Given the description of an element on the screen output the (x, y) to click on. 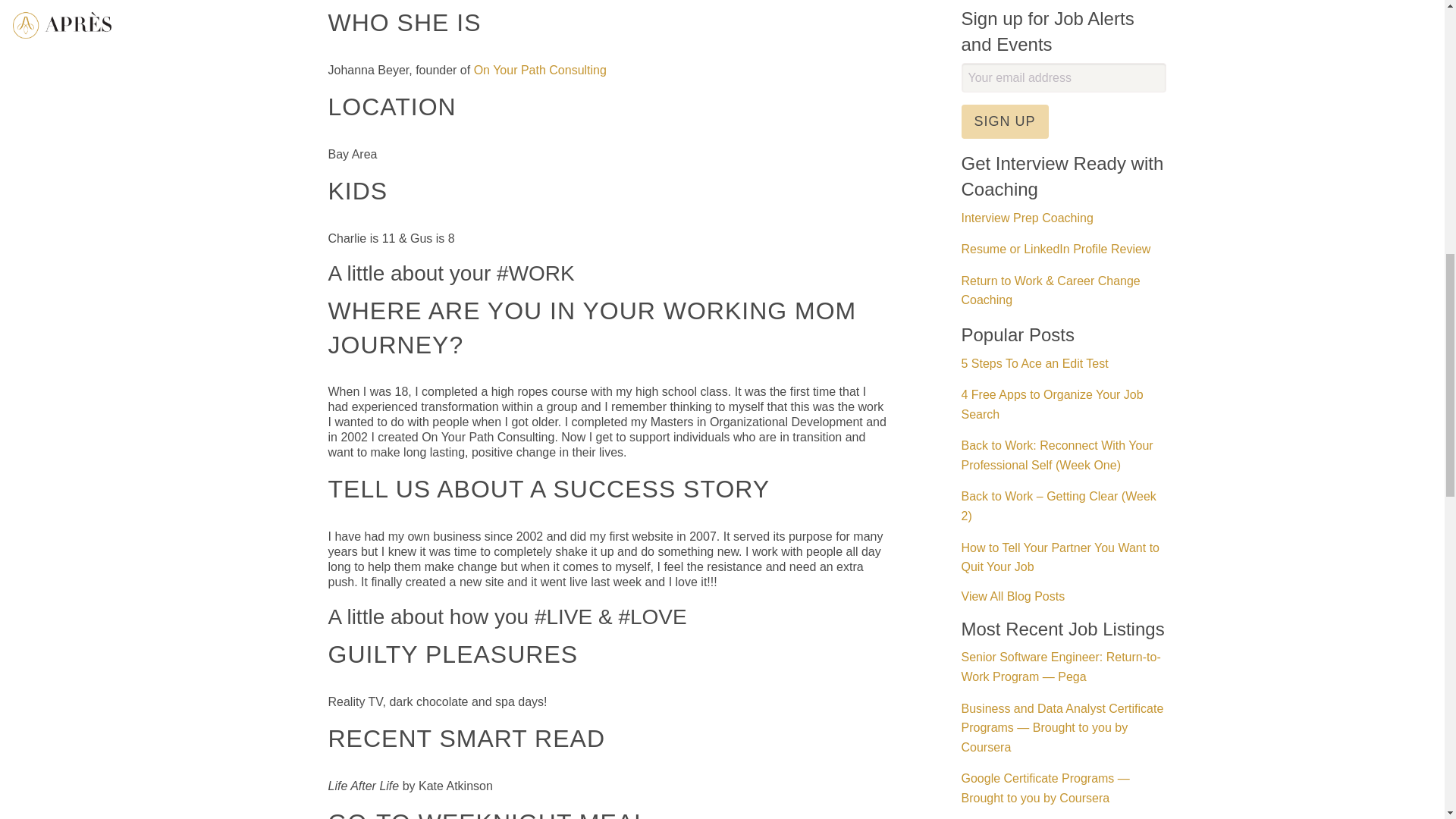
Sign up (1004, 121)
Interview Prep Coaching (1026, 217)
5 Steps To Ace an Edit Test (1034, 363)
How to Tell Your Partner You Want to Quit Your Job (1060, 557)
On Your Path Consulting (540, 69)
Resume or LinkedIn Profile Review (1055, 248)
4 Free Apps to Organize Your Job Search (1051, 404)
View All Blog Posts (1063, 596)
Sign up (1004, 121)
